Given the description of an element on the screen output the (x, y) to click on. 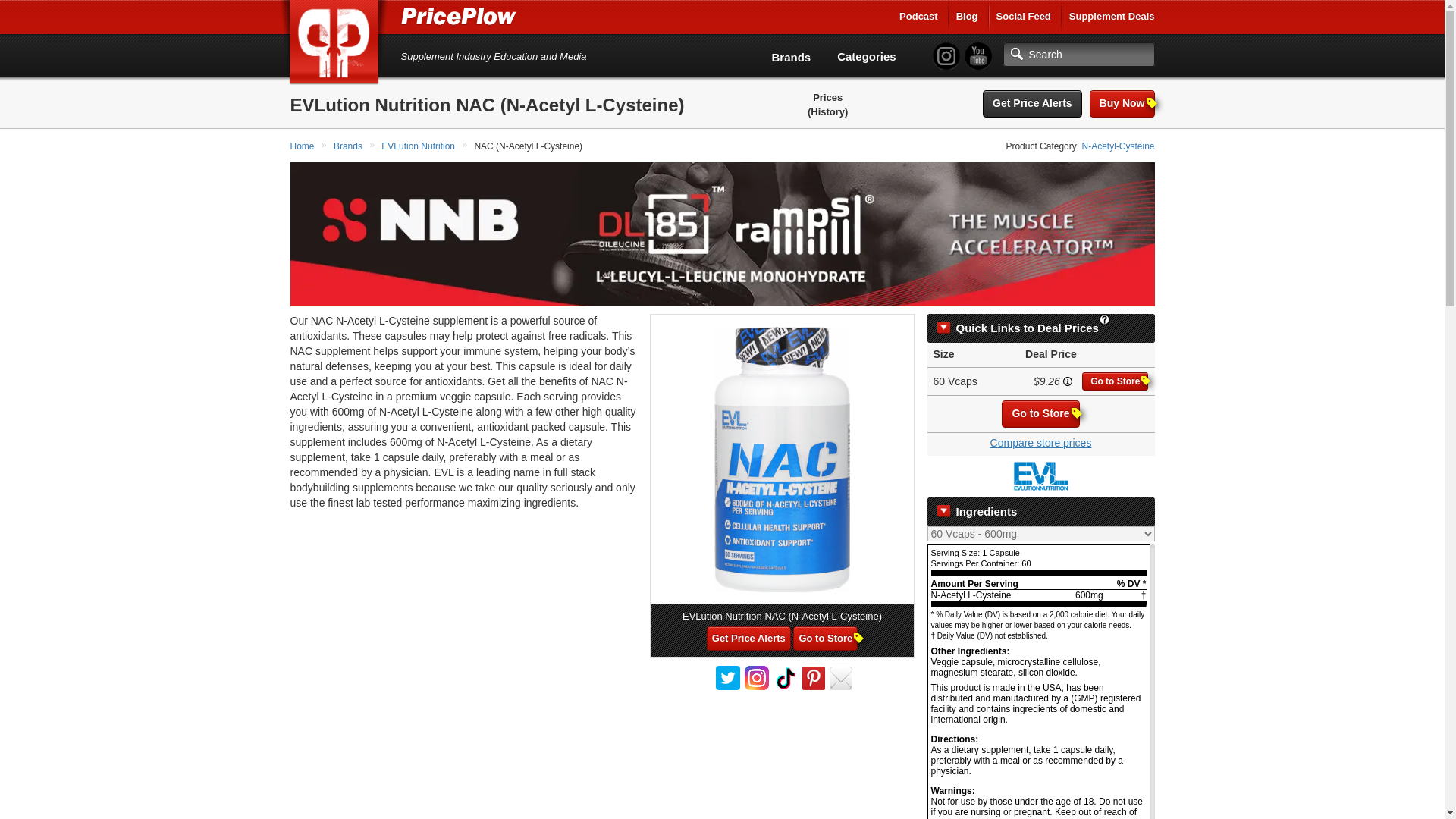
Listen to the PricePlow Podcast! (918, 16)
Go to Store (1114, 381)
Compare store prices (1041, 442)
Supplement Deals (1111, 16)
Blog (967, 16)
Prices (827, 97)
Podcast (918, 16)
Social Feed (1023, 16)
Categories (866, 56)
See all Brands on PricePlow - Over 1200 of them! (790, 57)
Brands (349, 145)
Get Price Alerts (1031, 103)
PricePlow's Latest Social and Media Activity (1023, 16)
Go to Store (1039, 413)
